Given the description of an element on the screen output the (x, y) to click on. 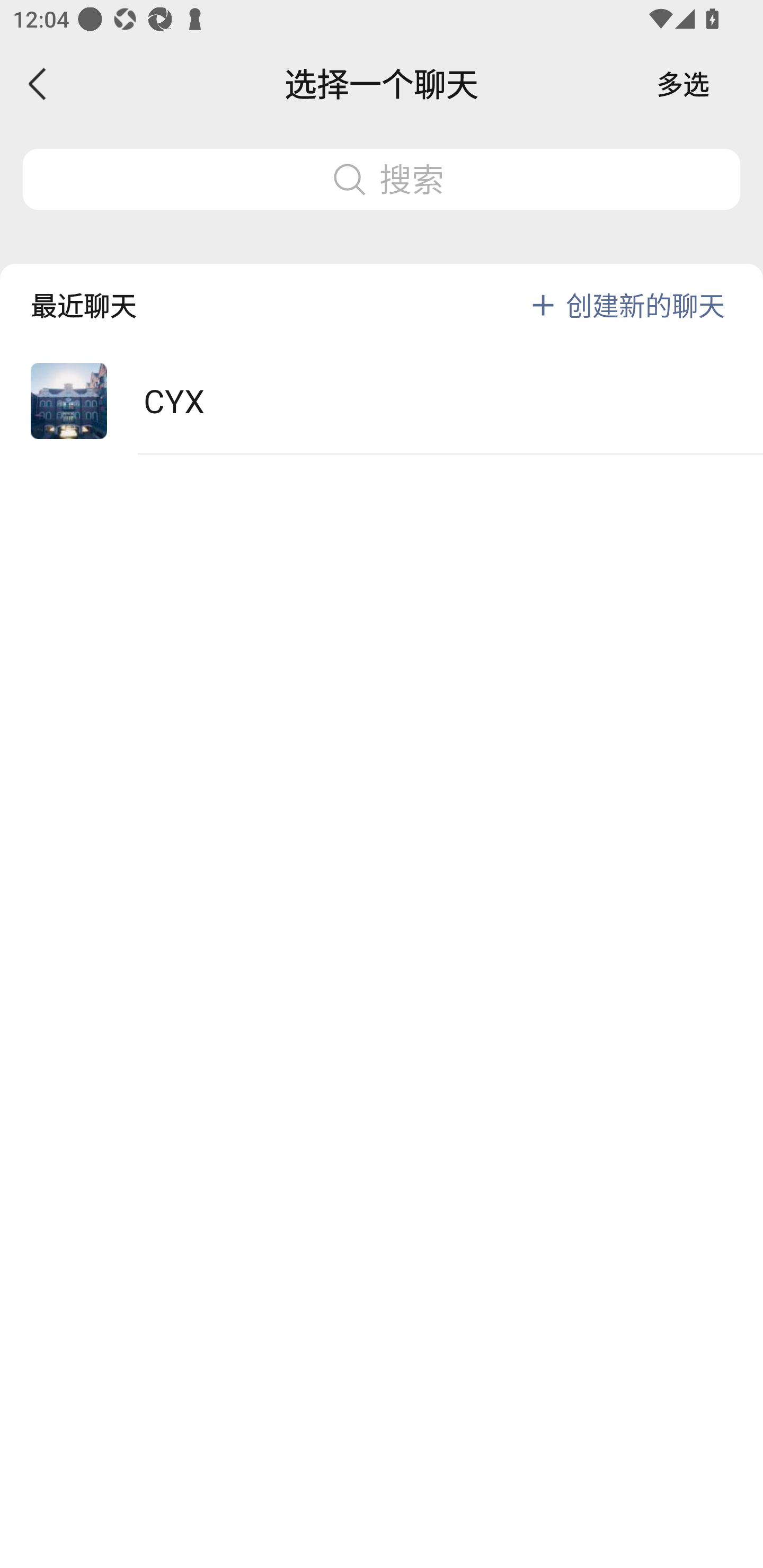
返回 (38, 83)
多选 (683, 83)
最近聊天 创建新的聊天 (381, 290)
创建新的聊天 (645, 304)
CYX (381, 401)
